Given the description of an element on the screen output the (x, y) to click on. 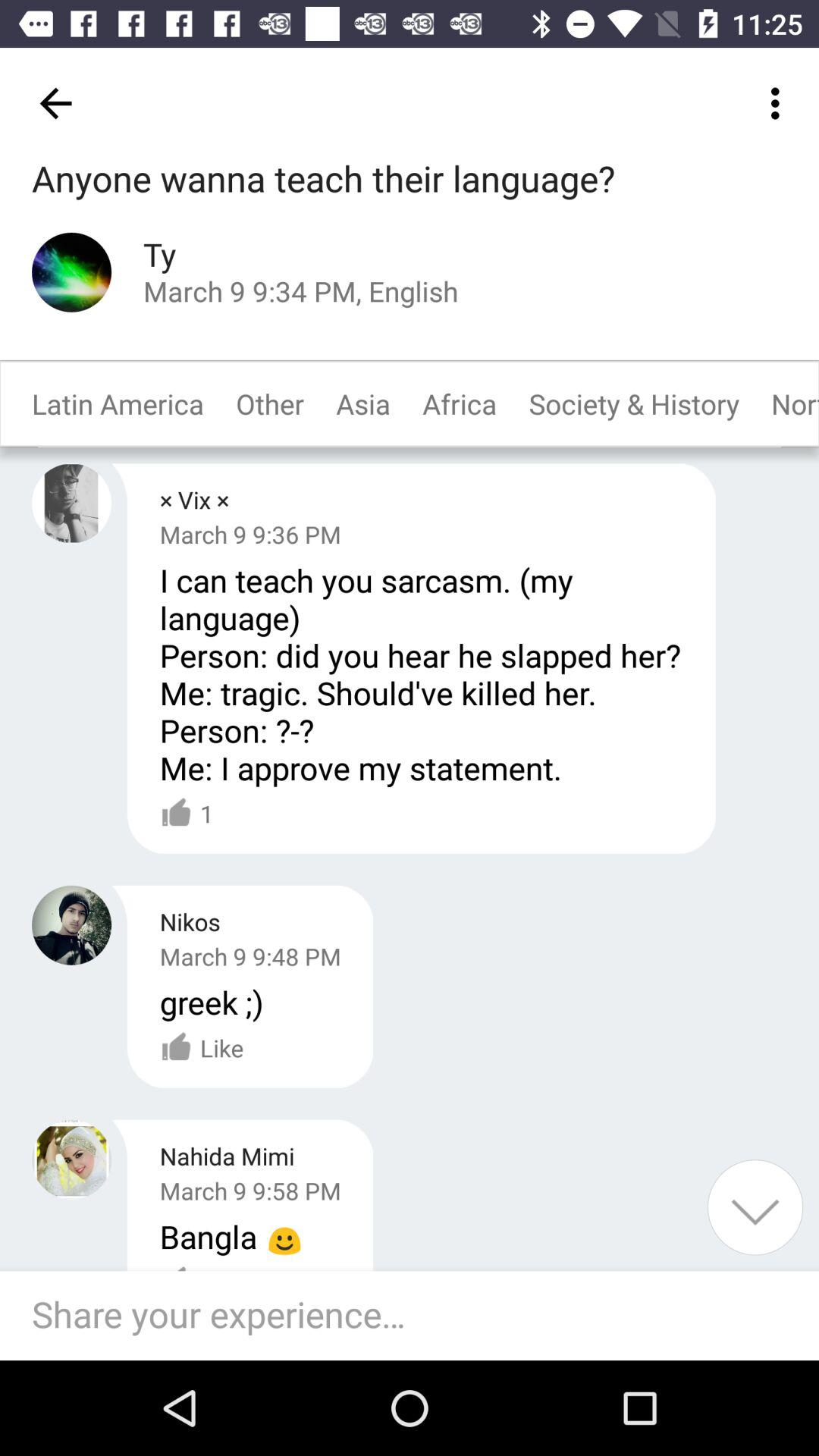
comment box (417, 1315)
